Given the description of an element on the screen output the (x, y) to click on. 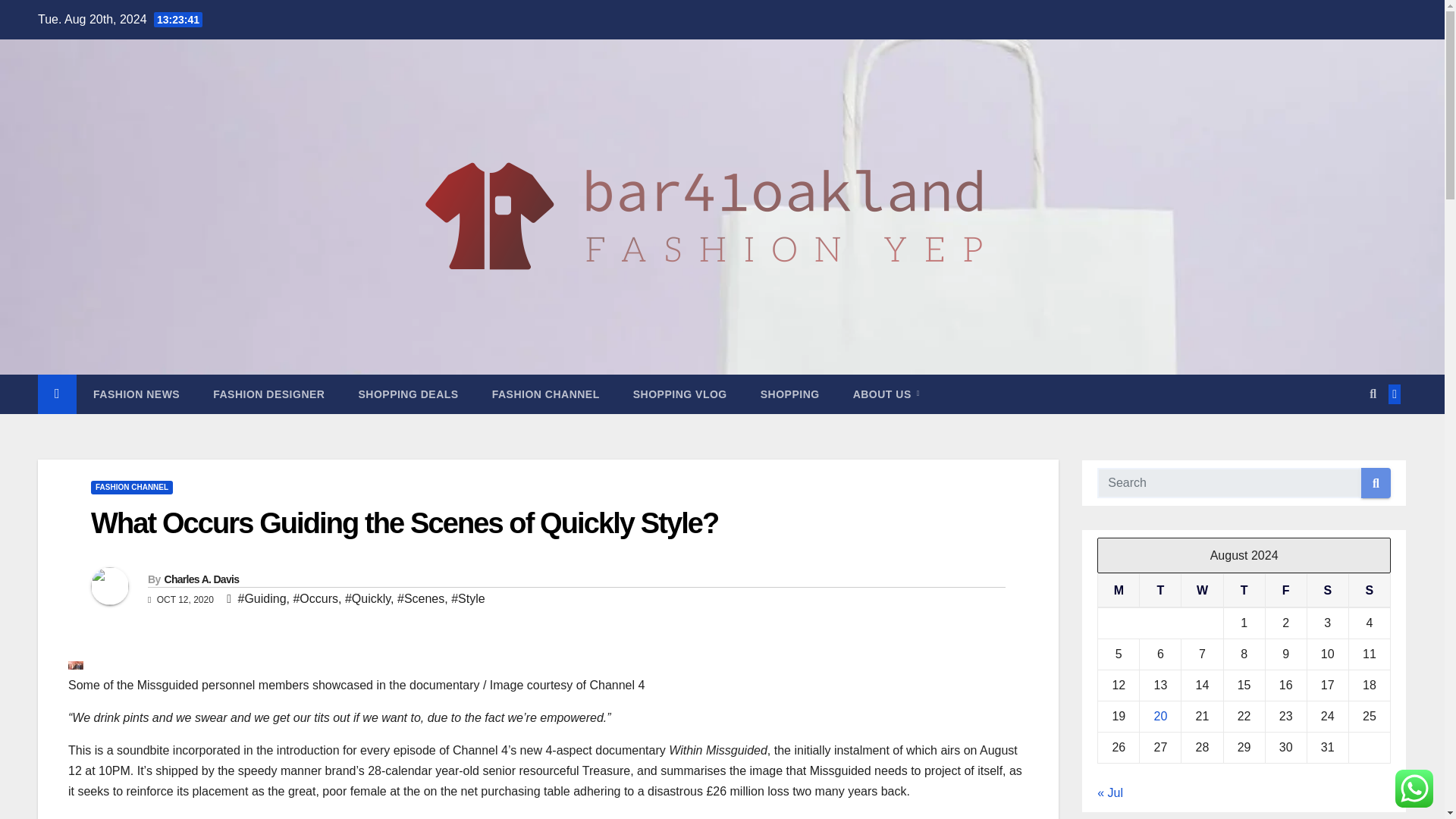
What Occurs Guiding the Scenes of Quickly Style? (403, 522)
FASHION CHANNEL (545, 394)
SHOPPING VLOG (679, 394)
Shopping Vlog (679, 394)
Fashion News (136, 394)
Shopping Deals (407, 394)
Shopping (789, 394)
About Us (885, 394)
ABOUT US (885, 394)
